Given the description of an element on the screen output the (x, y) to click on. 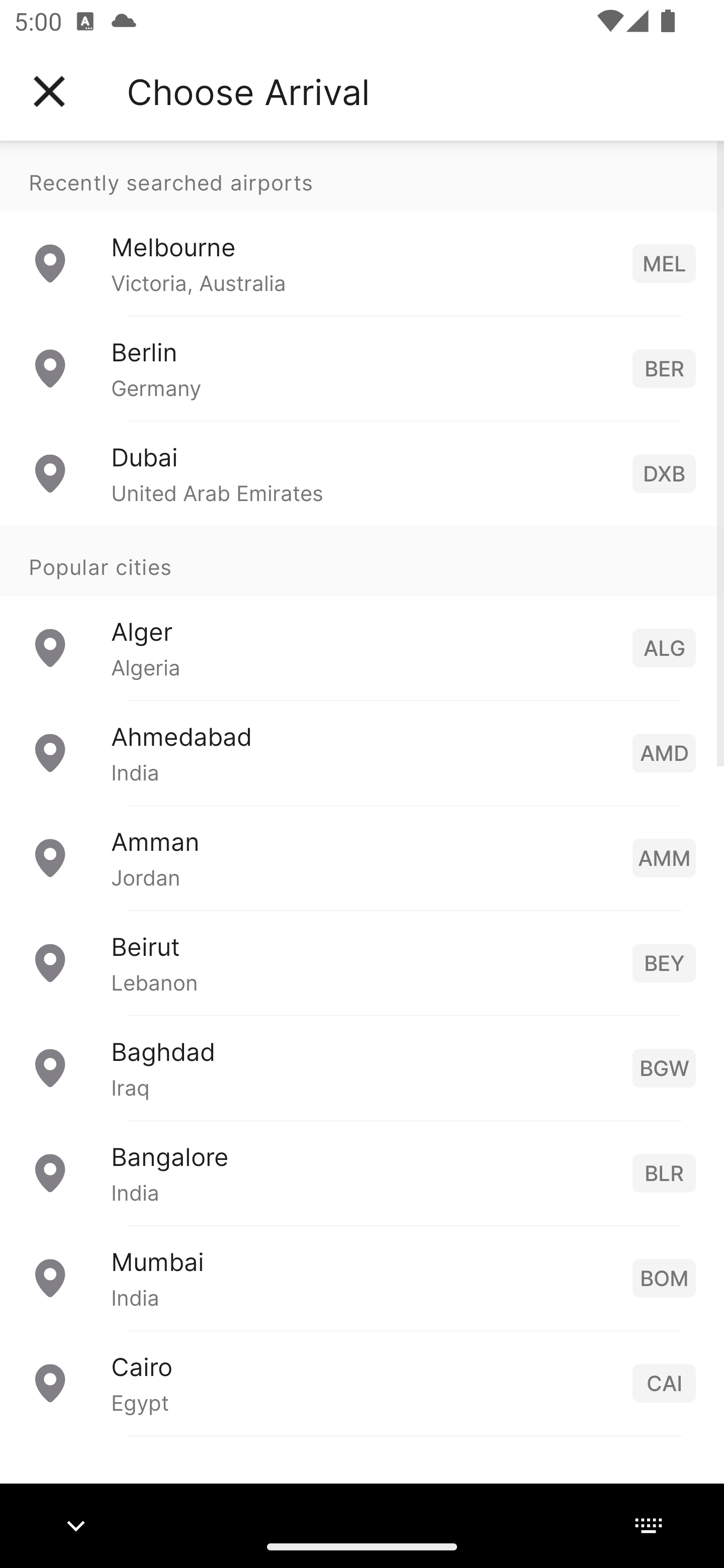
Choose Arrival (247, 91)
Recently searched airports (362, 176)
Berlin Germany BER (362, 367)
Dubai United Arab Emirates DXB (362, 472)
Popular cities Alger Algeria ALG (362, 612)
Popular cities (362, 560)
Ahmedabad India AMD (362, 751)
Amman Jordan AMM (362, 856)
Beirut Lebanon BEY (362, 961)
Baghdad Iraq BGW (362, 1066)
Bangalore India BLR (362, 1171)
Mumbai India BOM (362, 1276)
Cairo Egypt CAI (362, 1381)
